Given the description of an element on the screen output the (x, y) to click on. 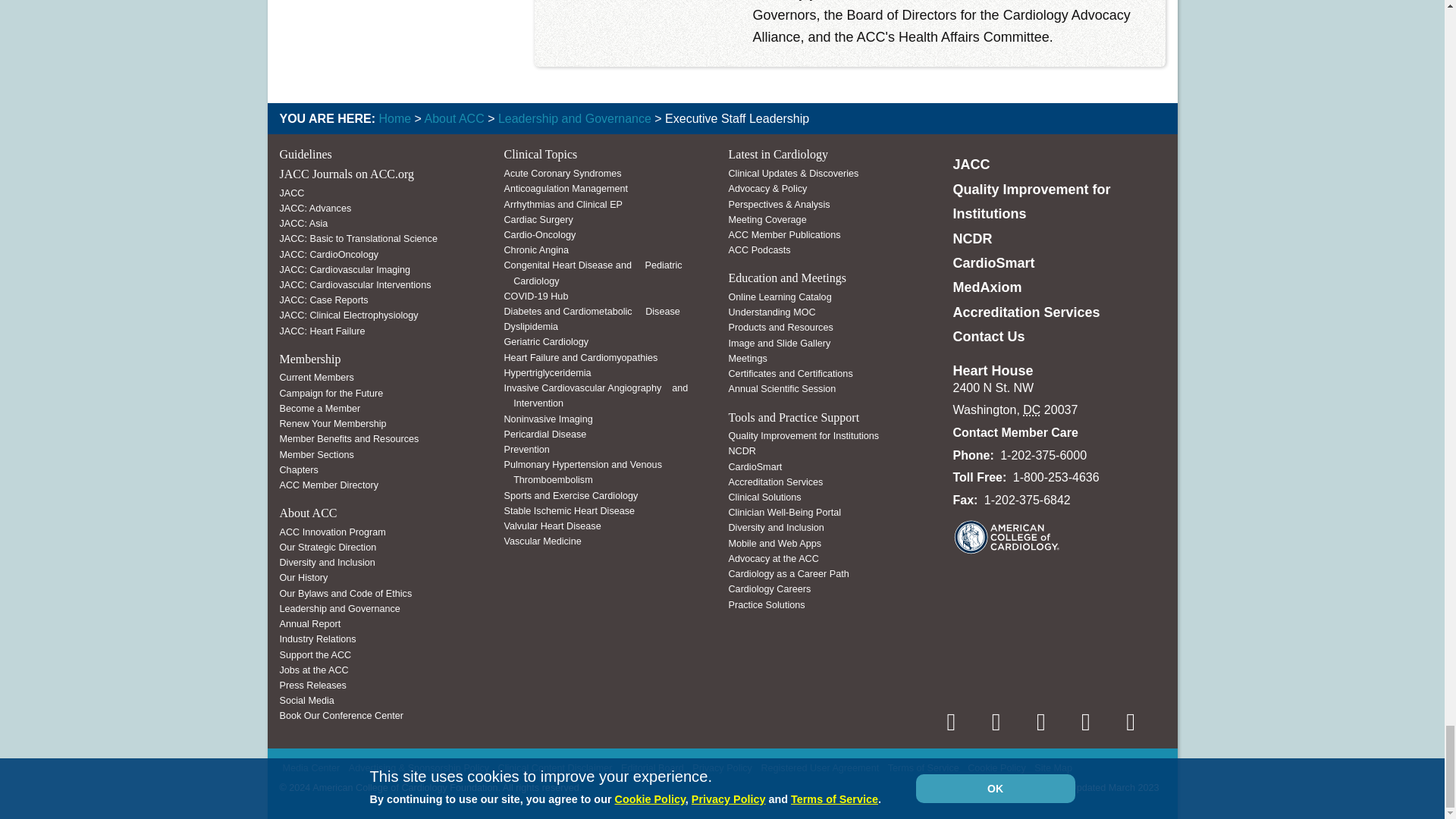
Guidelines (305, 154)
JACC: Advances (314, 208)
